Given the description of an element on the screen output the (x, y) to click on. 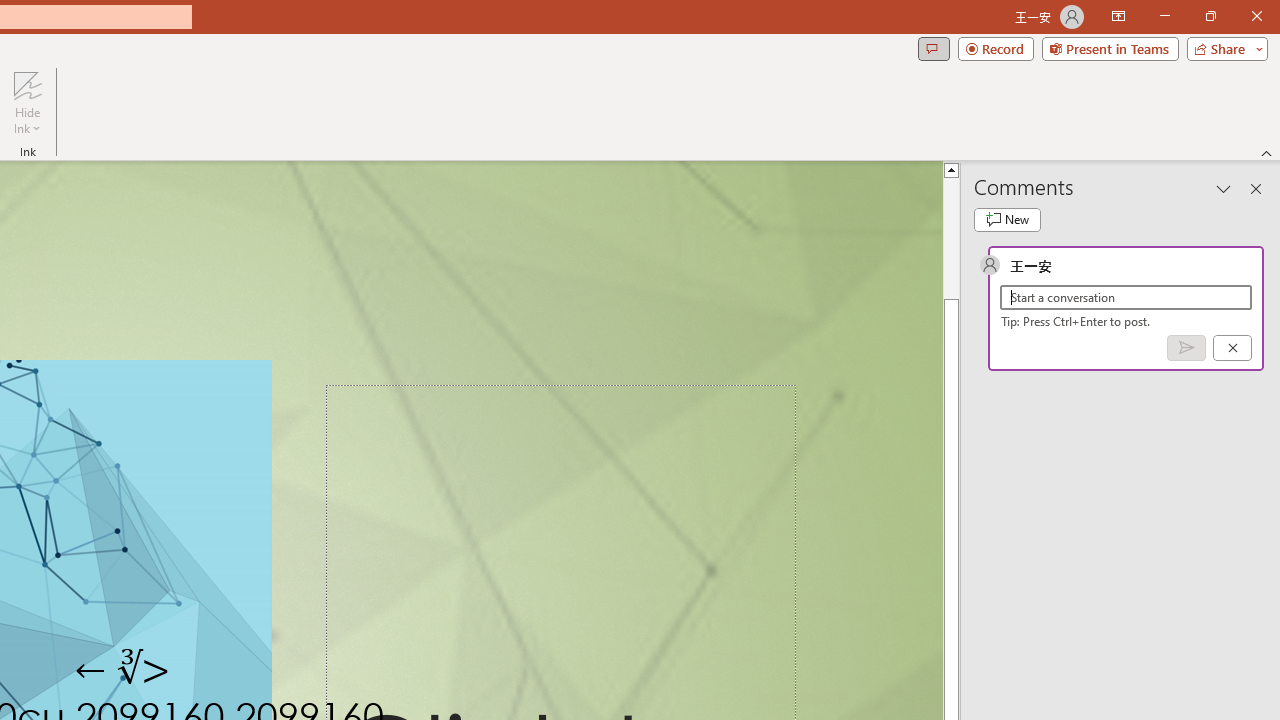
TextBox 7 (123, 669)
